Given the description of an element on the screen output the (x, y) to click on. 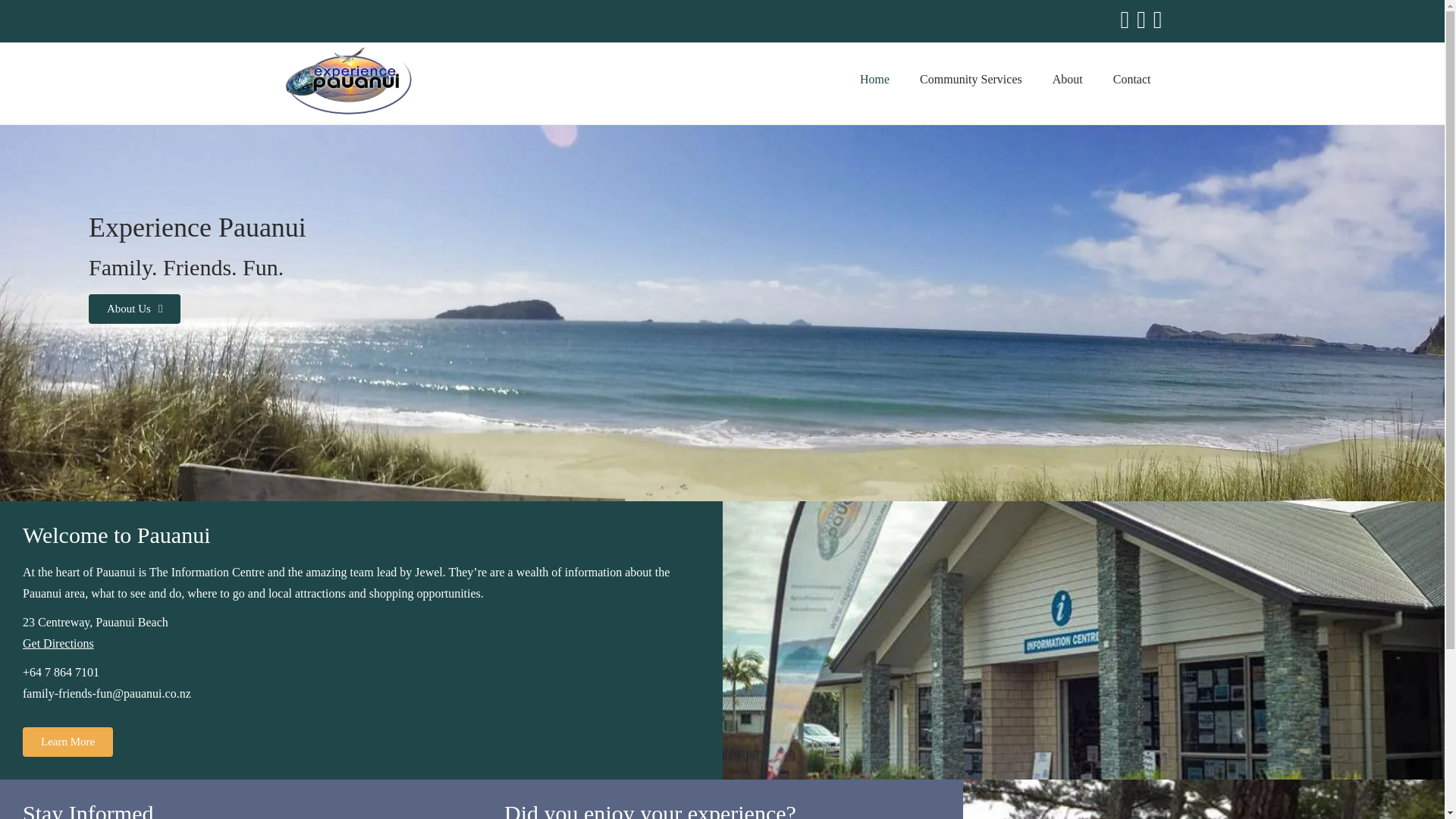
Community Services (971, 79)
About Us (134, 308)
Get Directions (58, 643)
Learn More (68, 741)
